Given the description of an element on the screen output the (x, y) to click on. 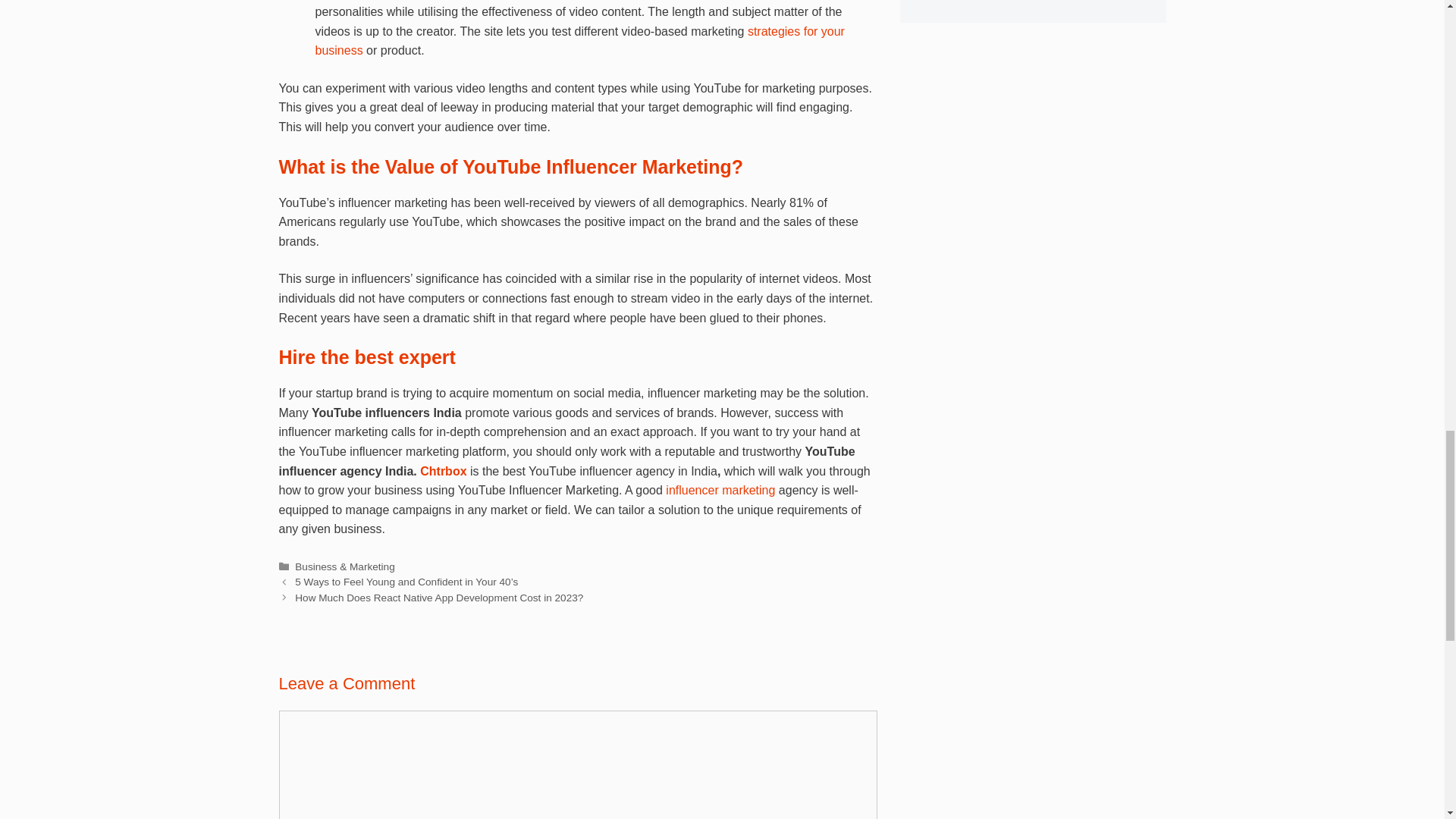
Chtrbox (442, 471)
How Much Does React Native App Development Cost in 2023? (439, 597)
strategies for your business (579, 41)
influencer marketing (719, 490)
